Given the description of an element on the screen output the (x, y) to click on. 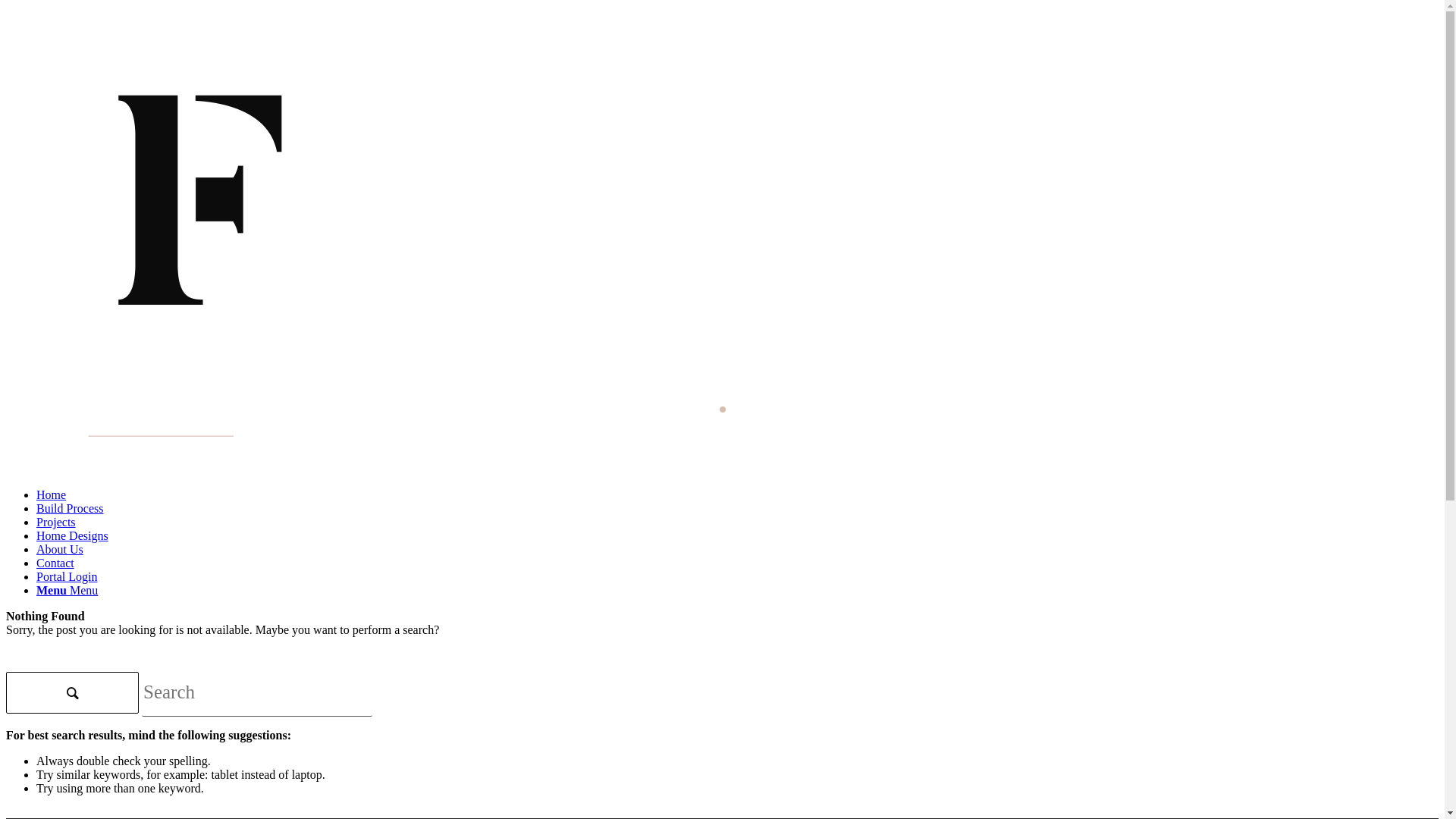
About Us Element type: text (59, 548)
Home Designs Element type: text (72, 535)
Build Process Element type: text (69, 508)
Projects Element type: text (55, 521)
Contact Element type: text (55, 562)
Portal Login Element type: text (66, 576)
Home Element type: text (50, 494)
Menu Menu Element type: text (66, 589)
